Given the description of an element on the screen output the (x, y) to click on. 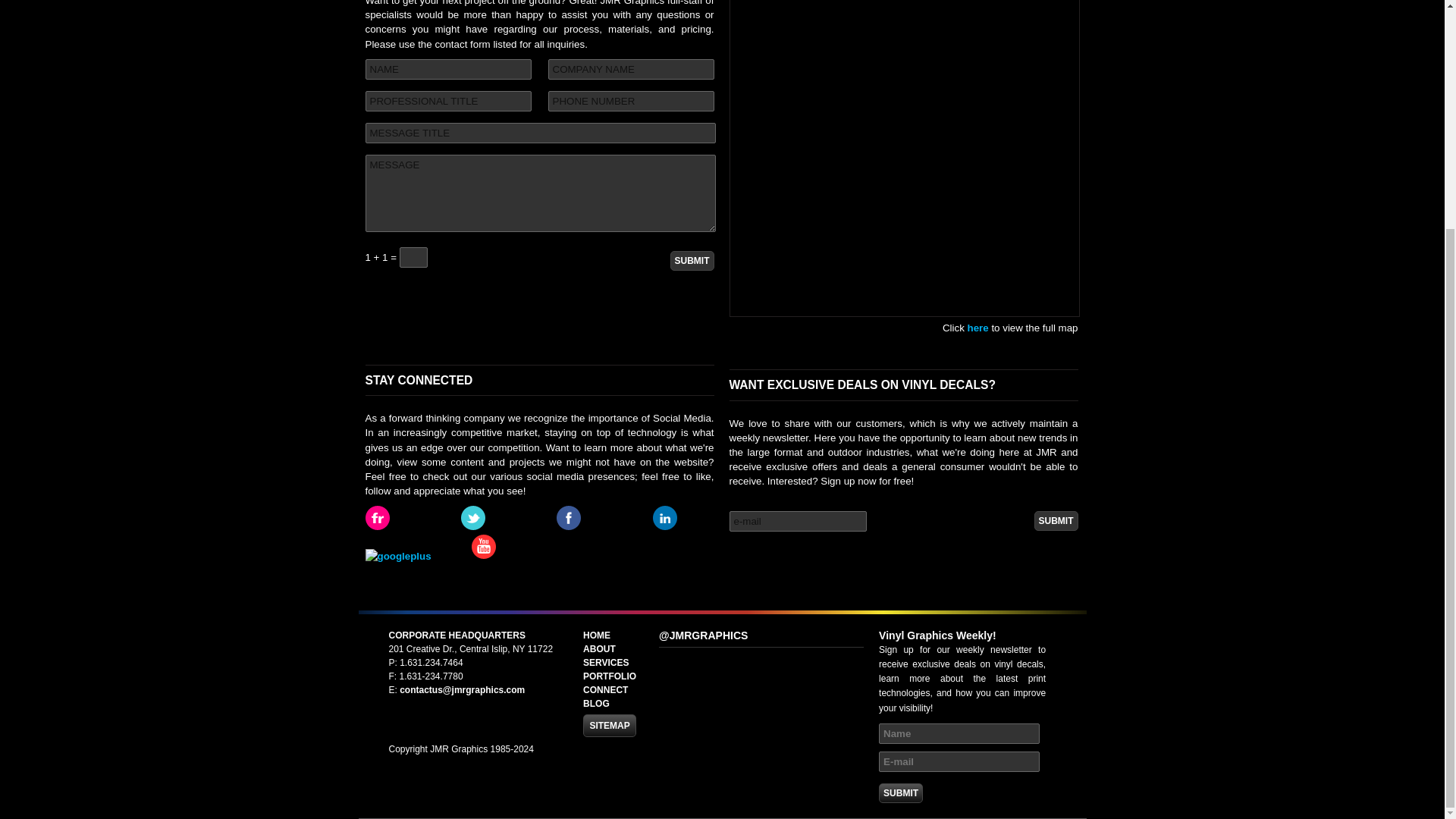
SUBMIT (901, 792)
SUBMIT (1055, 520)
SUBMIT (691, 260)
NAME (448, 68)
COMPANY NAME (630, 68)
e-mail (797, 521)
MESSAGE TITLE (540, 132)
PROFESSIONAL TITLE (448, 100)
PHONE NUMBER (630, 100)
